Given the description of an element on the screen output the (x, y) to click on. 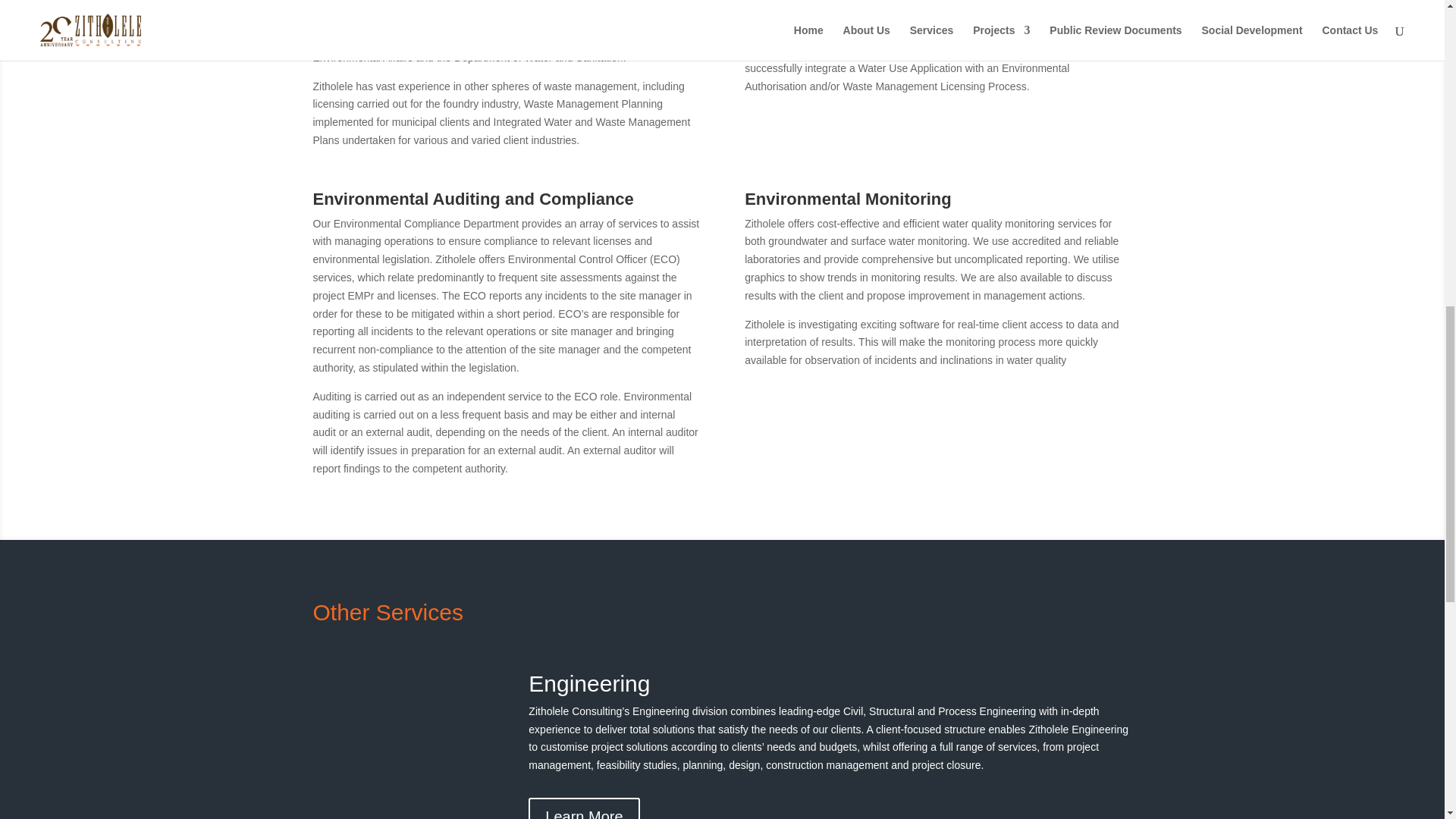
Learn More (583, 808)
